Given the description of an element on the screen output the (x, y) to click on. 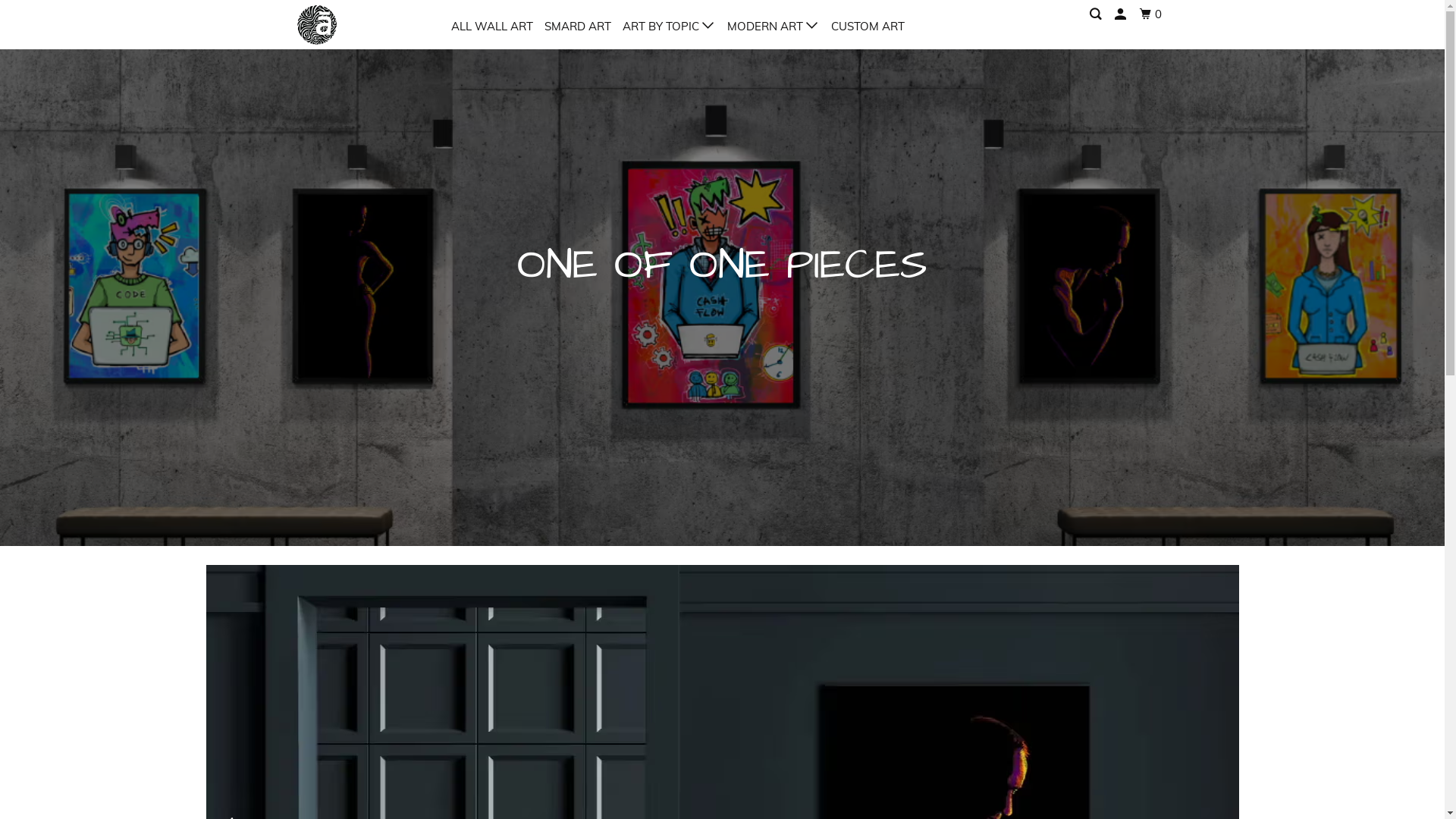
ART BY TOPIC Element type: text (668, 25)
ALL WALL ART Element type: text (491, 25)
0 Element type: text (1151, 14)
SMARD ART Element type: text (577, 25)
CUSTOM ART Element type: text (867, 25)
MODERN ART Element type: text (772, 25)
Anaya Arts Element type: hover (351, 24)
Search Element type: hover (1095, 14)
